Given the description of an element on the screen output the (x, y) to click on. 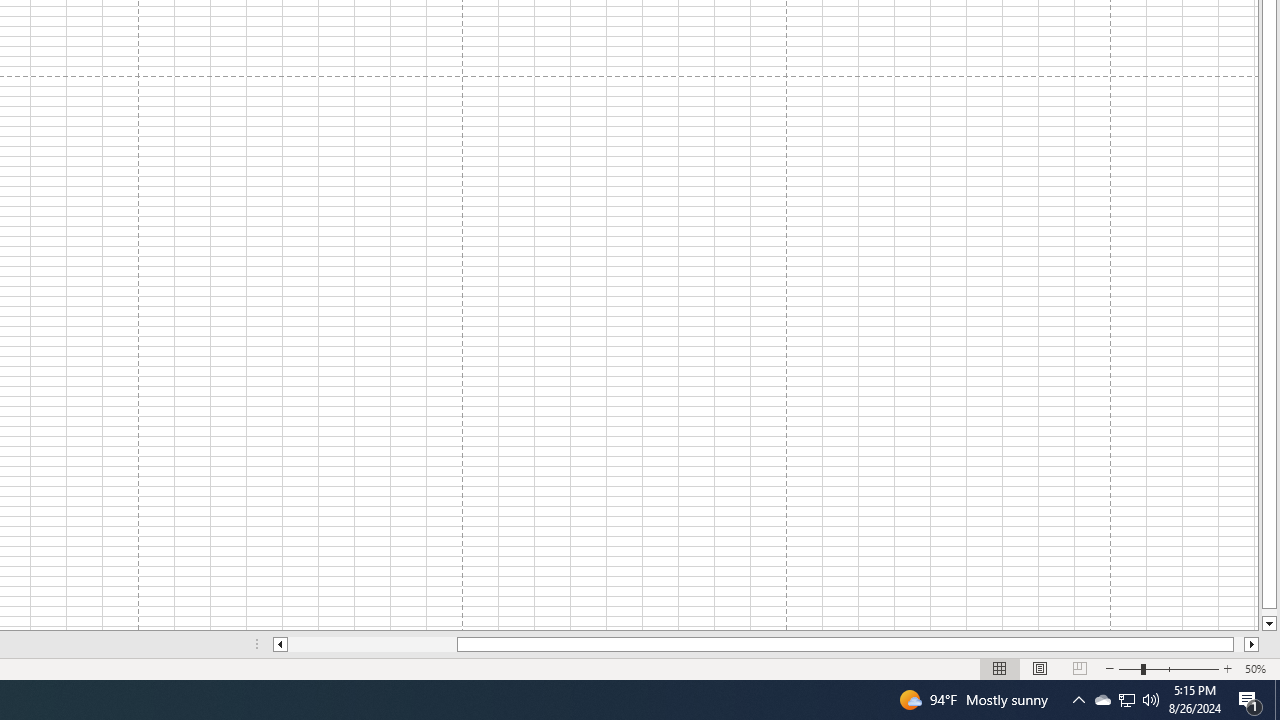
Page left (372, 644)
